Given the description of an element on the screen output the (x, y) to click on. 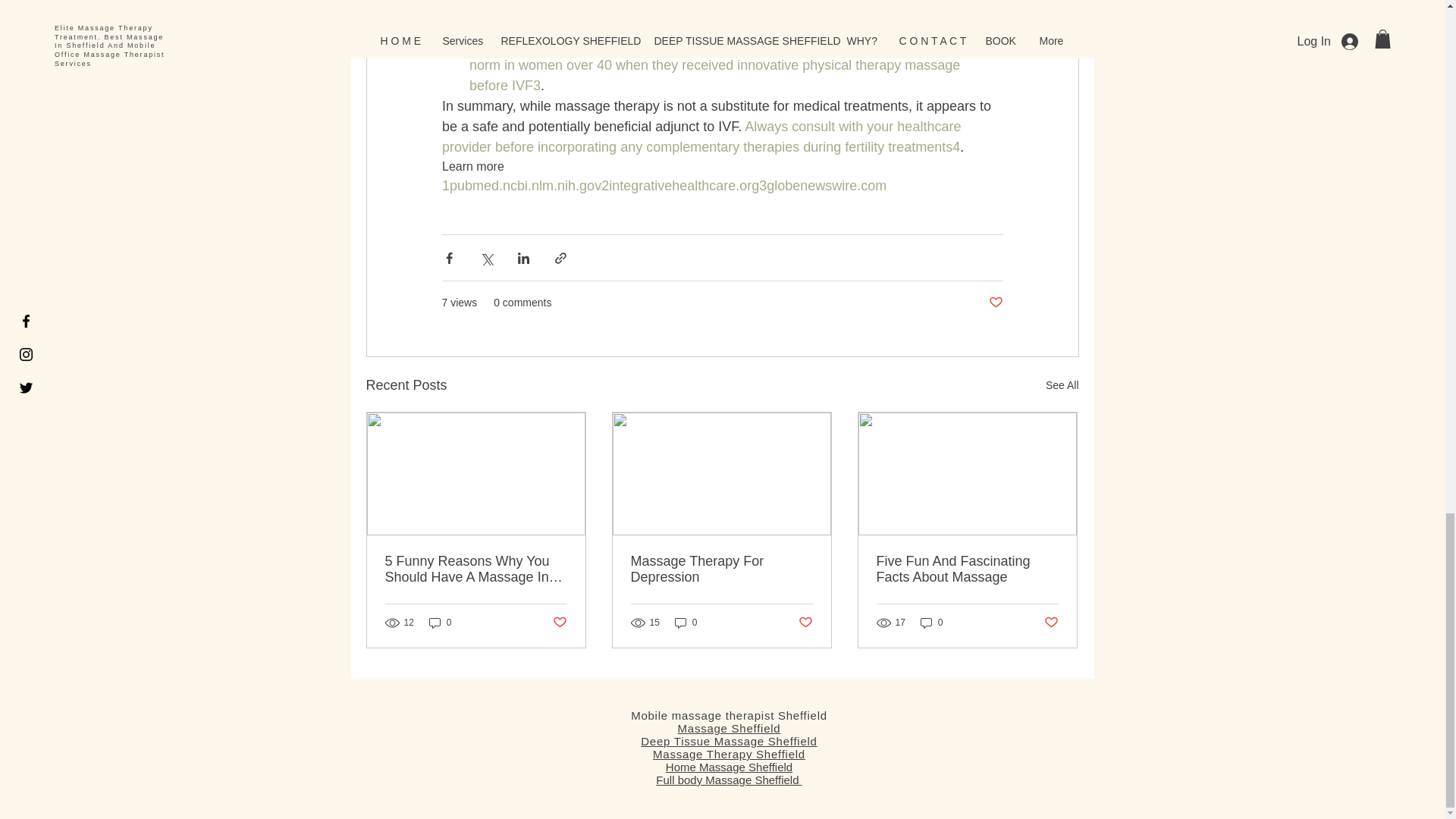
0 (685, 622)
Post not marked as liked (804, 622)
Post not marked as liked (558, 622)
0 (440, 622)
4 (955, 146)
3 (536, 85)
Post not marked as liked (995, 302)
See All (1061, 385)
2 (707, 5)
Massage Therapy For Depression (721, 569)
